Given the description of an element on the screen output the (x, y) to click on. 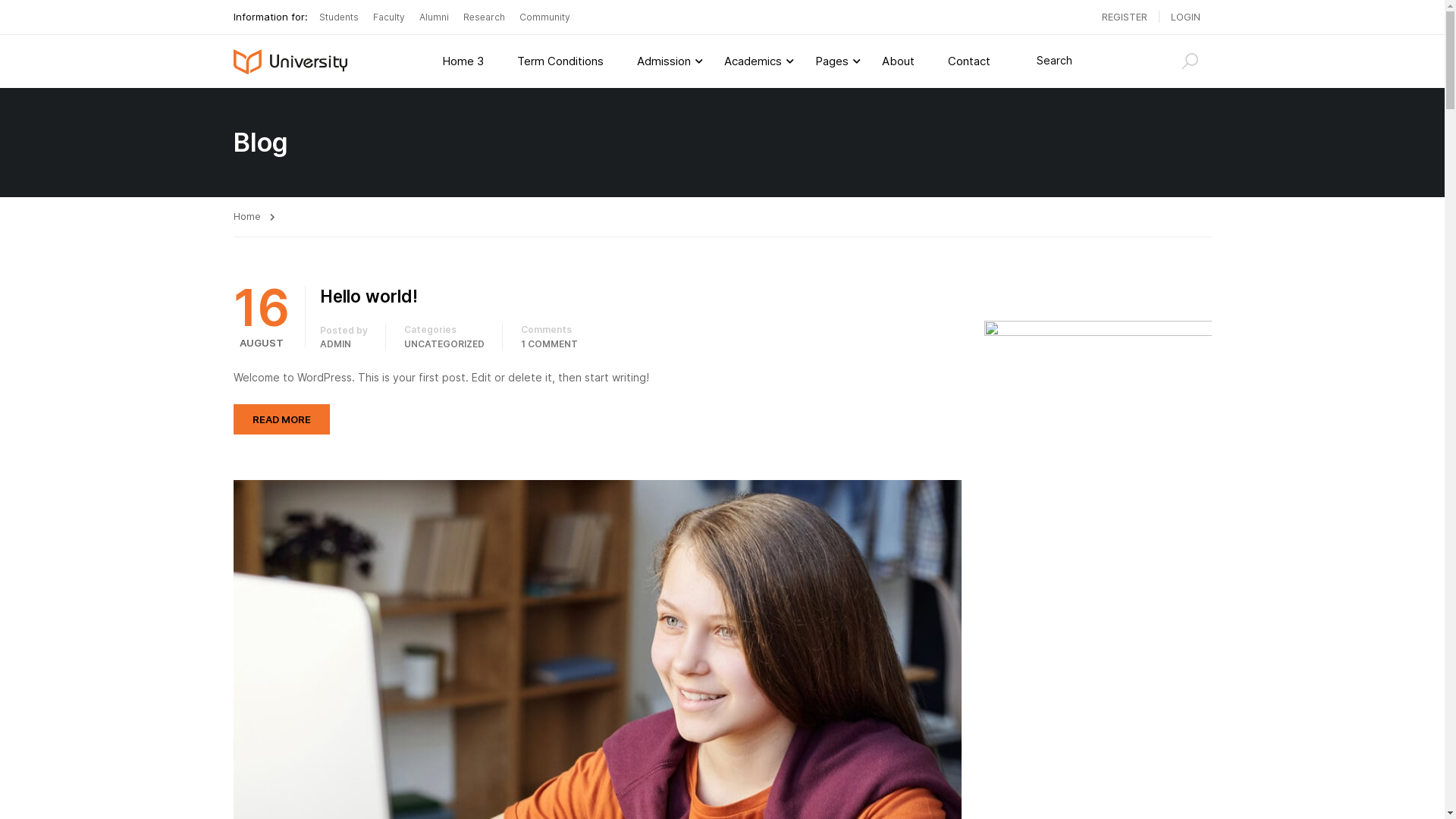
Research Element type: text (483, 16)
Sign up Element type: text (909, 441)
REGISTER Element type: text (1124, 16)
Hello world! Element type: text (640, 296)
Home Element type: text (254, 216)
Pages Element type: text (830, 61)
UNCATEGORIZED Element type: text (443, 344)
Community Element type: text (543, 16)
Mindwaves Consulting - consulting Element type: hover (291, 60)
Alumni Element type: text (433, 16)
Faculty Element type: text (388, 16)
ADMIN Element type: text (335, 344)
READ MORE Element type: text (281, 419)
Home 3 Element type: text (462, 61)
About Element type: text (897, 61)
Academics Element type: text (752, 61)
LOGIN Element type: text (1184, 16)
Term Conditions Element type: text (560, 61)
Admission Element type: text (663, 61)
1 COMMENT Element type: text (548, 344)
Contact Element type: text (968, 61)
Students Element type: text (337, 16)
Login Element type: text (837, 429)
